Given the description of an element on the screen output the (x, y) to click on. 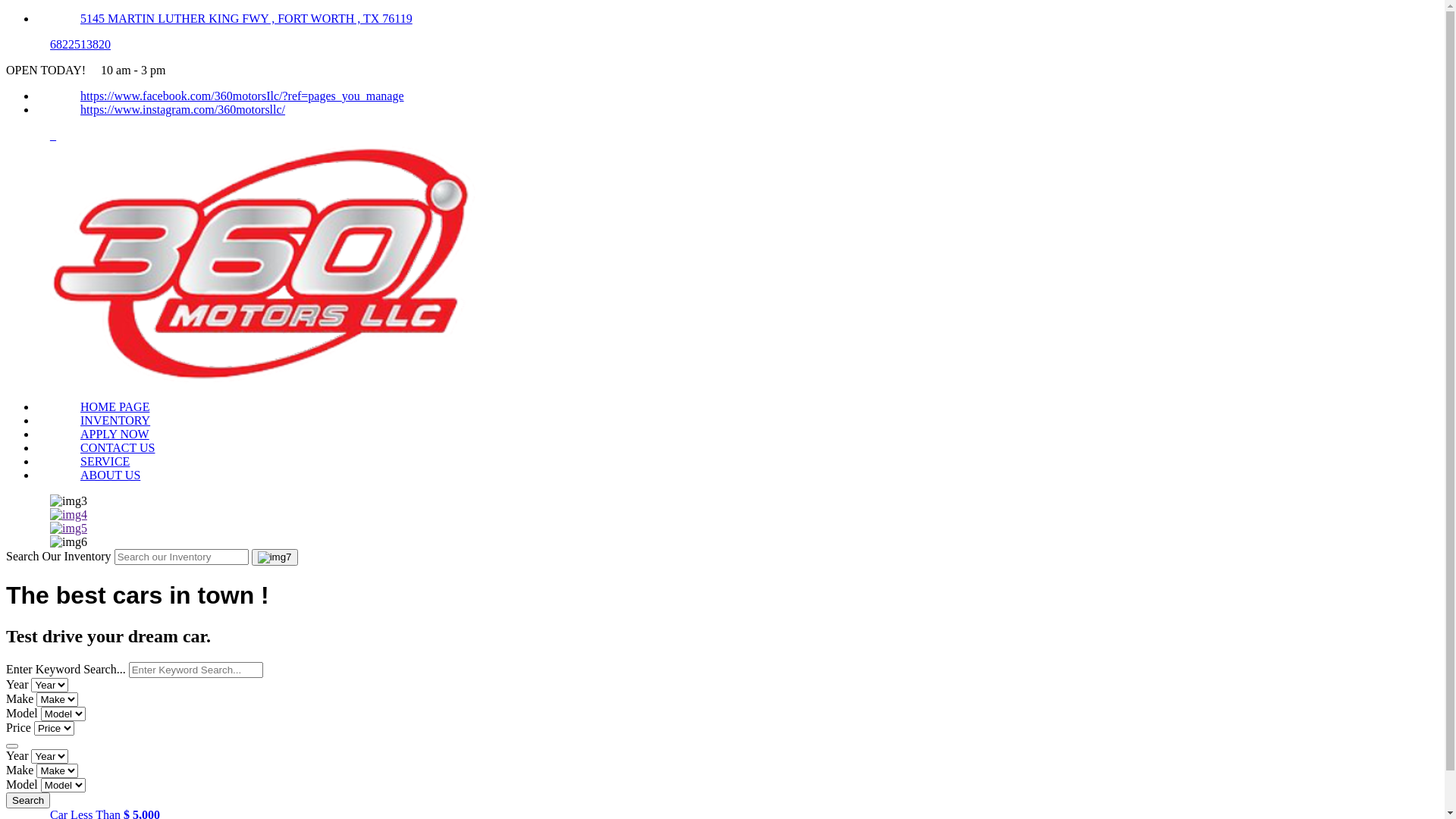
Search Element type: text (28, 800)
SERVICE Element type: text (104, 461)
6822513820 Element type: text (80, 44)
Home Element type: hover (263, 380)
APPLY NOW Element type: text (114, 433)
https://www.instagram.com/360motorsllc/ Element type: text (182, 109)
ABOUT US Element type: text (110, 474)
HOME PAGE Element type: text (114, 406)
INVENTORY Element type: text (115, 420)
https://www.facebook.com/360motorsIlc/?ref=pages_you_manage Element type: text (242, 95)
CONTACT US Element type: text (117, 447)
_ Element type: text (53, 135)
